Given the description of an element on the screen output the (x, y) to click on. 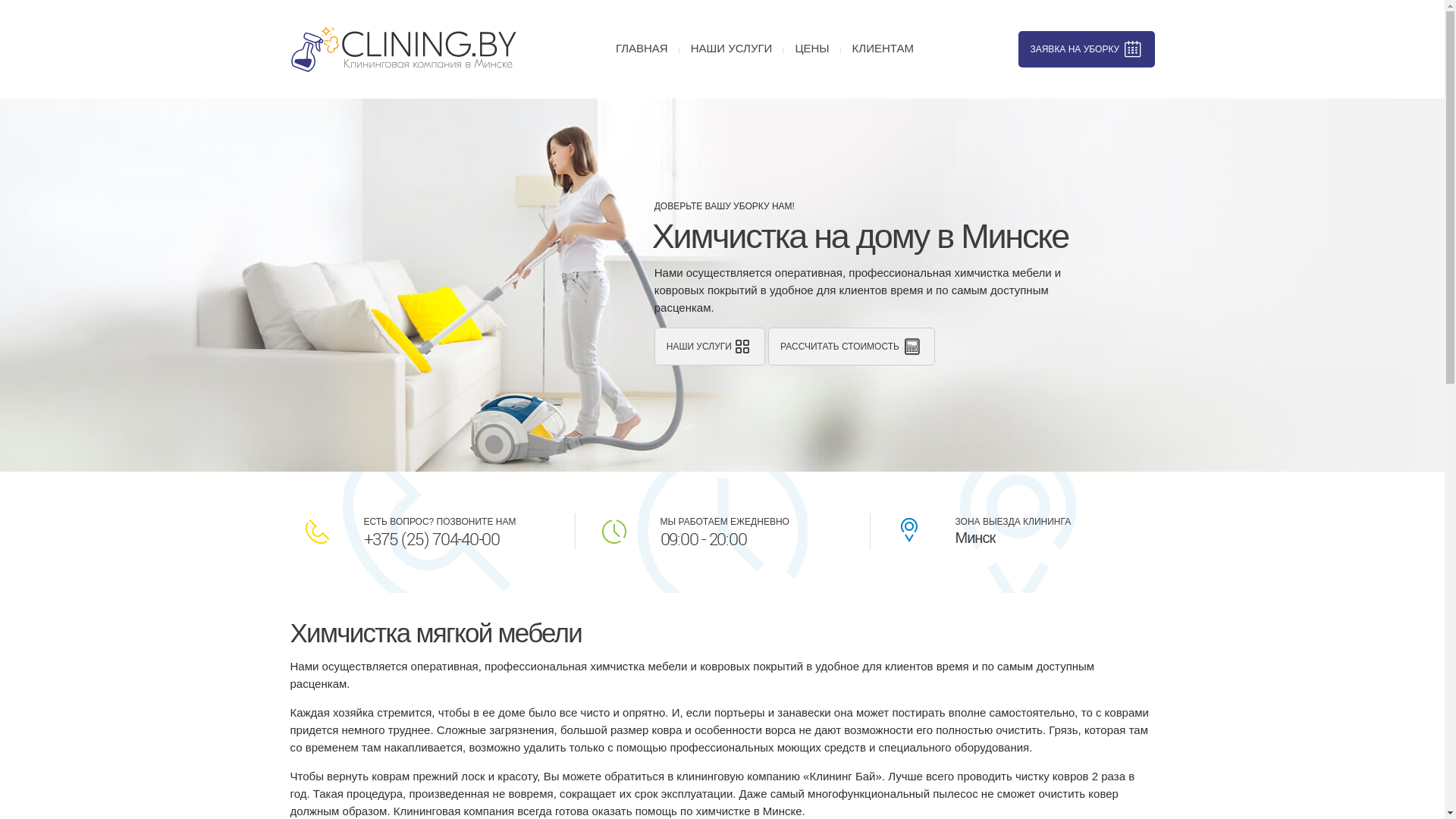
+375 (25) 704-40-00 Element type: text (431, 539)
